Given the description of an element on the screen output the (x, y) to click on. 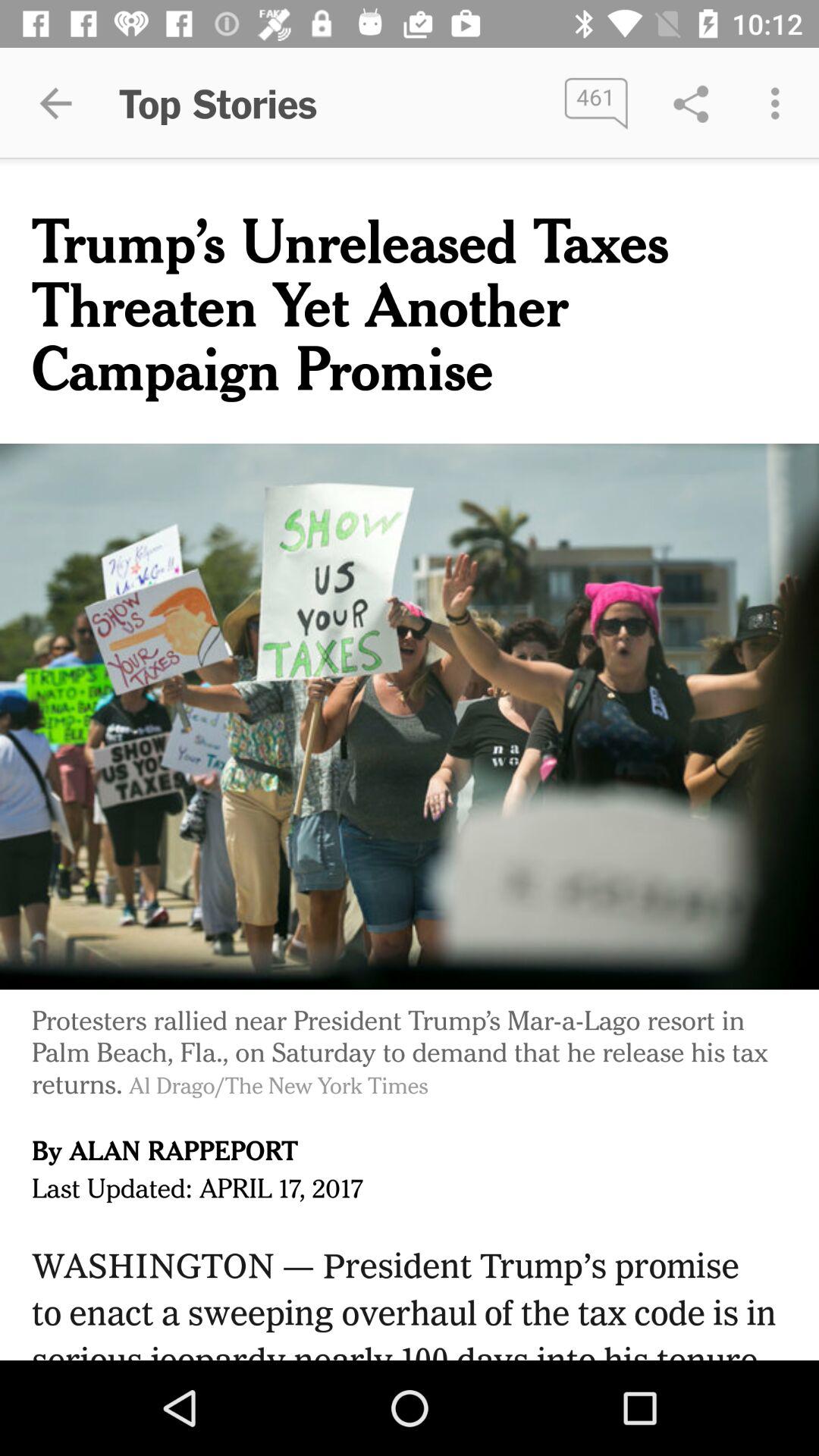
click the item below the trump s unreleased item (409, 716)
